Given the description of an element on the screen output the (x, y) to click on. 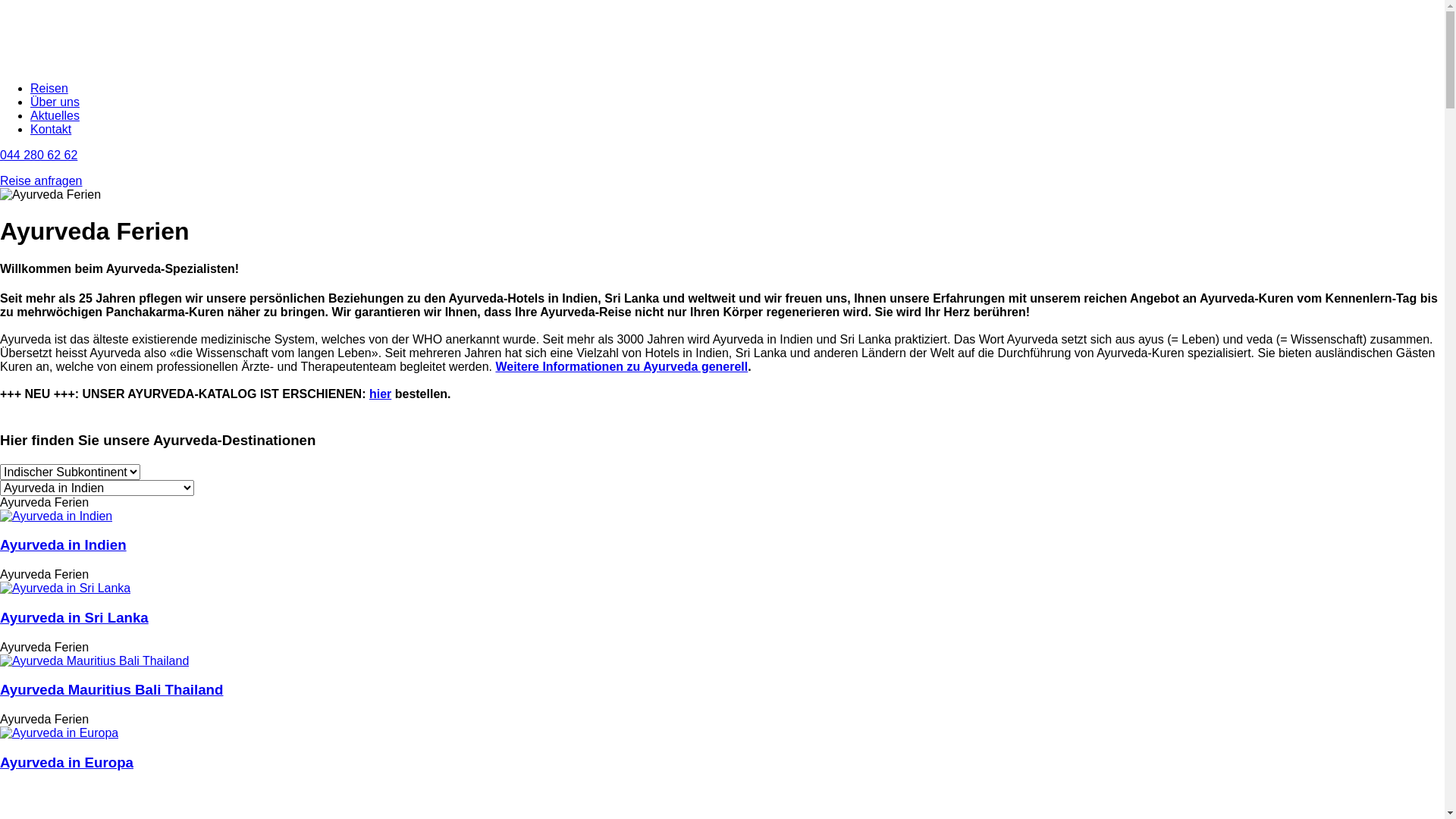
Ayurveda in Europa Element type: text (66, 762)
Ayurveda in Sri Lanka Element type: text (74, 617)
hier Element type: text (380, 393)
Aktuelles Element type: text (54, 115)
Weitere Informationen zu Ayurveda generell Element type: text (621, 366)
Reise anfragen Element type: text (41, 180)
Ayurveda in Indien Element type: hover (56, 516)
Reisen Element type: text (49, 87)
Ayurveda in Indien Element type: text (63, 544)
044 280 62 62 Element type: text (38, 154)
Ayurveda in Europa Element type: hover (59, 733)
Ayurveda Mauritius Bali Thailand Element type: hover (94, 661)
Kontakt Element type: text (50, 128)
Ayurveda Ferien Element type: hover (50, 194)
Ayurveda in Sri Lanka Element type: hover (65, 588)
Ayurveda Mauritius Bali Thailand Element type: text (111, 689)
